Given the description of an element on the screen output the (x, y) to click on. 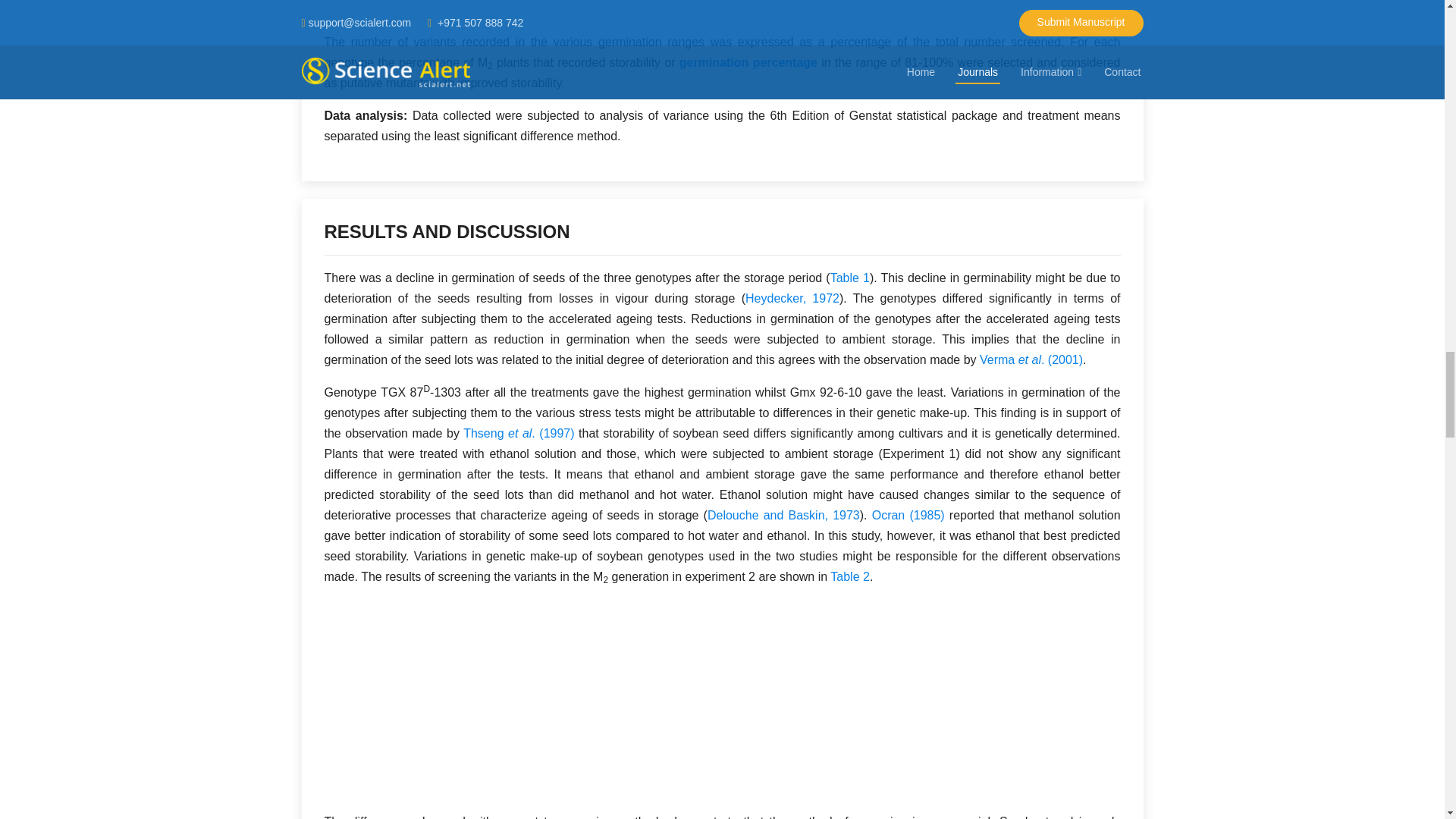
Advertisement (722, 15)
